Given the description of an element on the screen output the (x, y) to click on. 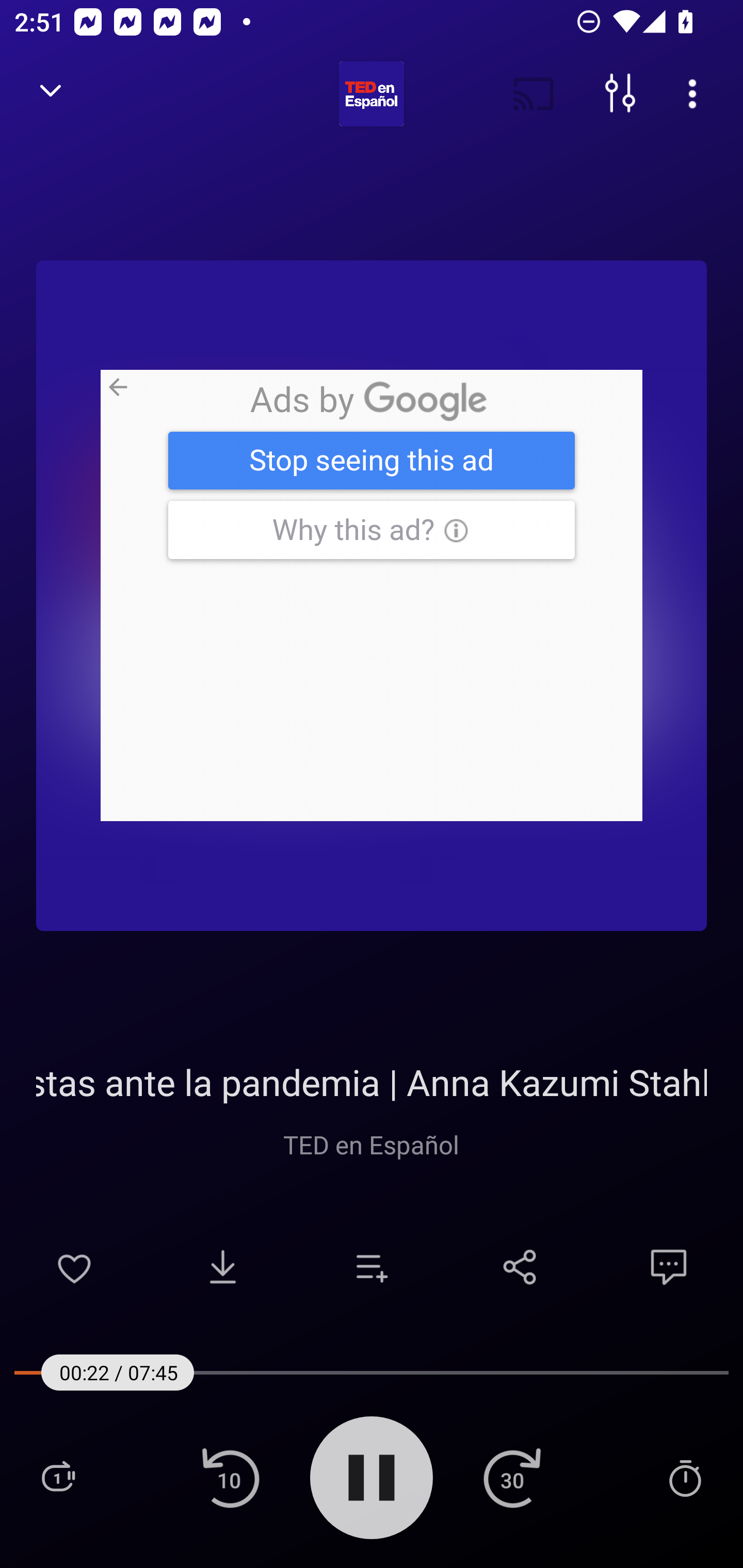
Cast. Disconnected (533, 93)
 Back (50, 94)
ramadan (371, 595)
TED en Español (371, 1144)
Comments (668, 1266)
Add to Favorites (73, 1266)
Add to playlist (371, 1266)
Share (519, 1266)
 Playlist (57, 1477)
Sleep Timer  (684, 1477)
